Given the description of an element on the screen output the (x, y) to click on. 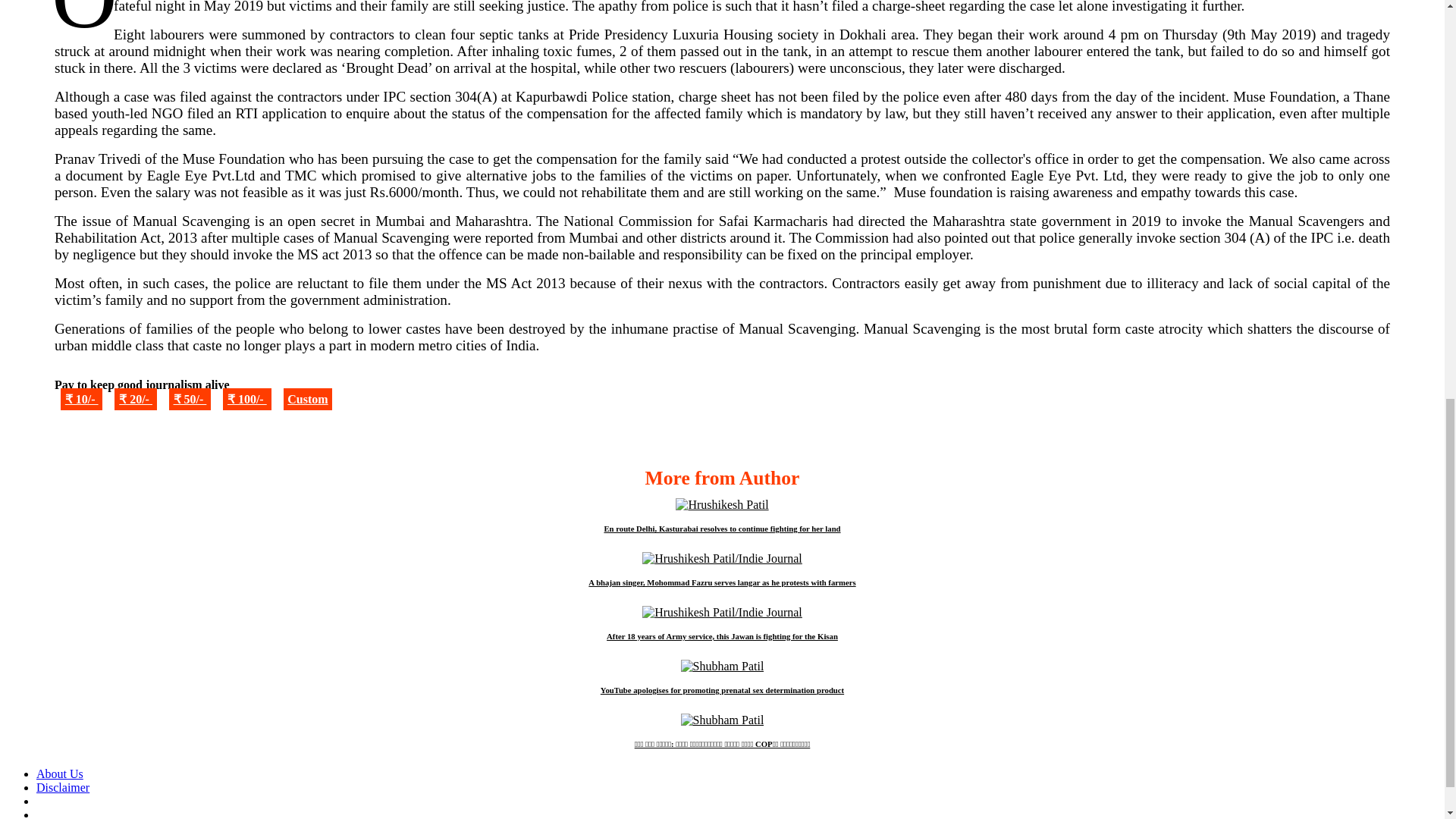
Custom (308, 399)
About Us (59, 773)
Disclaimer (62, 787)
